Given the description of an element on the screen output the (x, y) to click on. 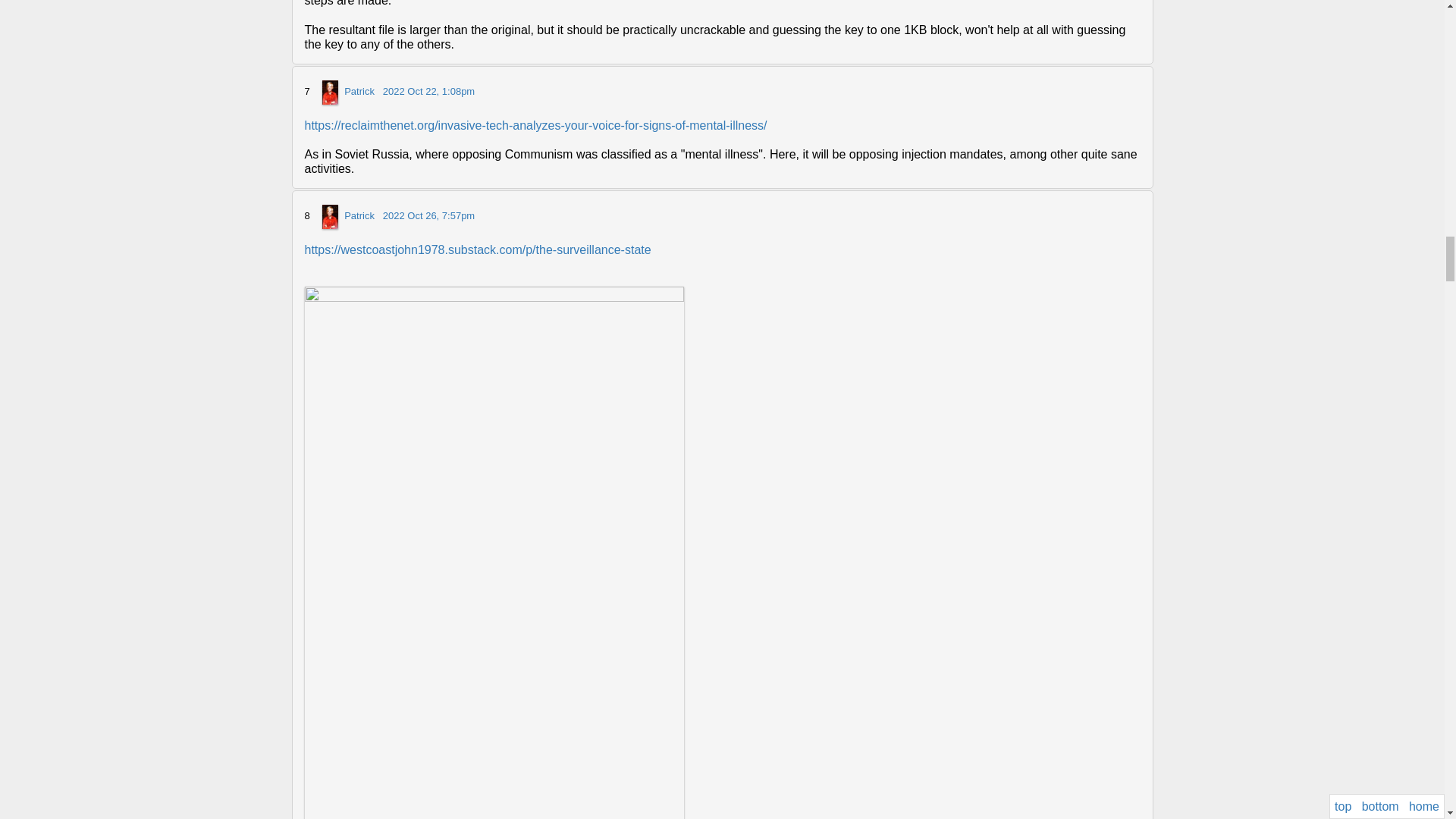
permalink to this comment (428, 215)
permalink to this comment (428, 91)
